Given the description of an element on the screen output the (x, y) to click on. 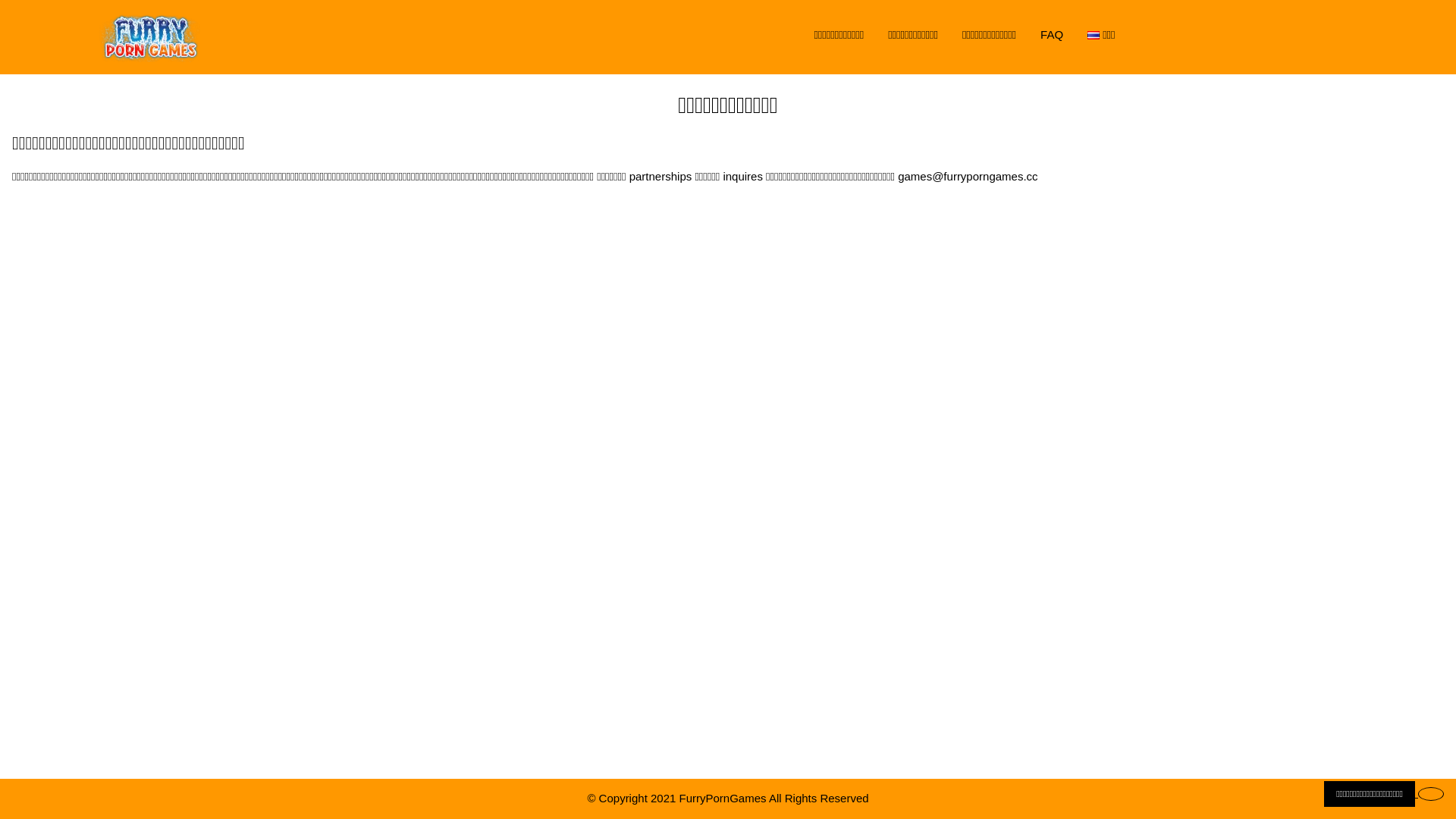
FAQ Element type: text (1051, 35)
